Given the description of an element on the screen output the (x, y) to click on. 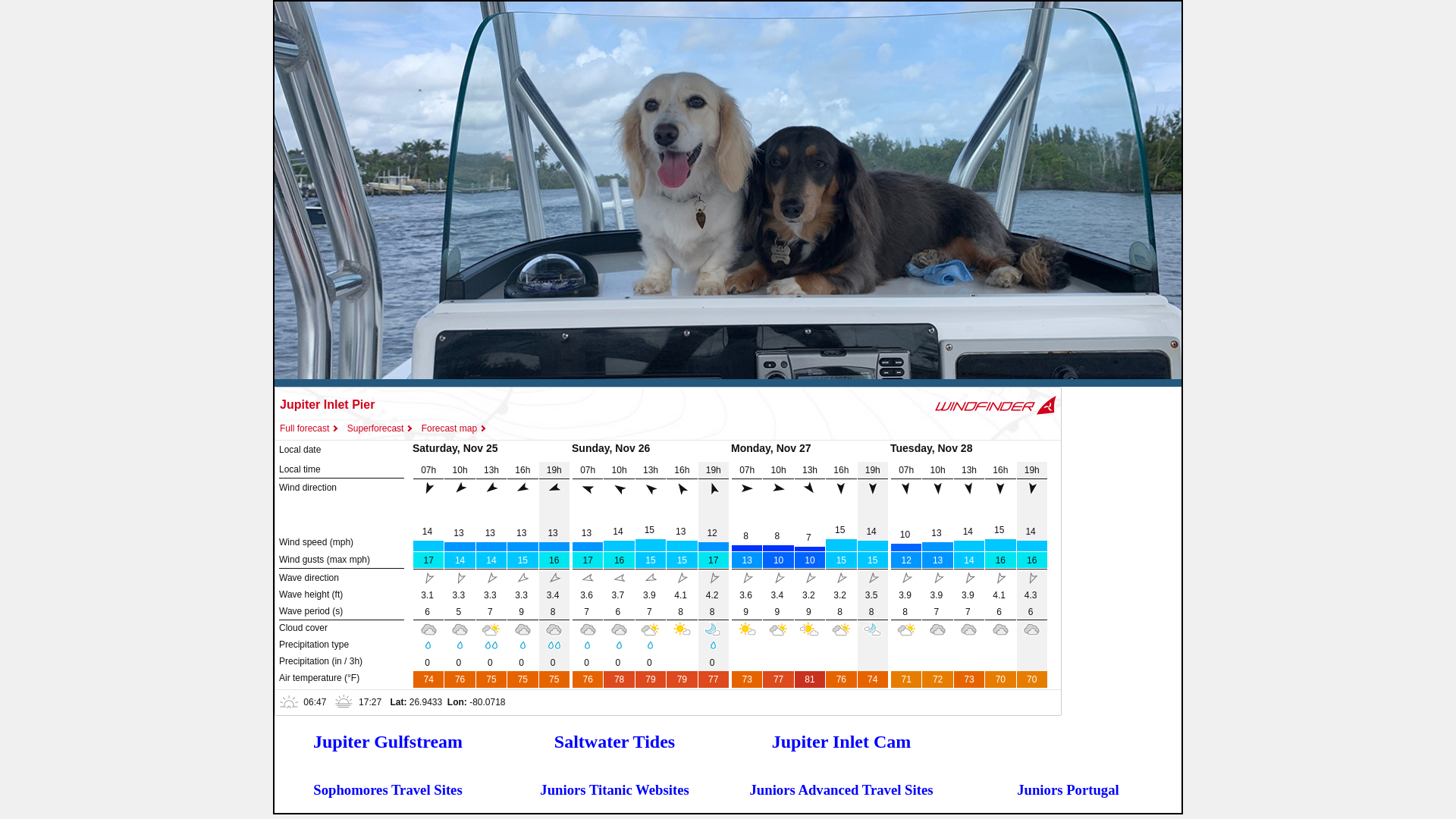
Juniors Portugal Element type: text (1067, 789)
Sophomores Travel Sites Element type: text (387, 789)
Jupiter Inlet Cam Element type: text (841, 741)
Juniors Titanic Websites Element type: text (613, 789)
Juniors Advanced Travel Sites Element type: text (841, 789)
Jupiter Gulfstream Element type: text (387, 741)
Saltwater Tides Element type: text (614, 741)
